Given the description of an element on the screen output the (x, y) to click on. 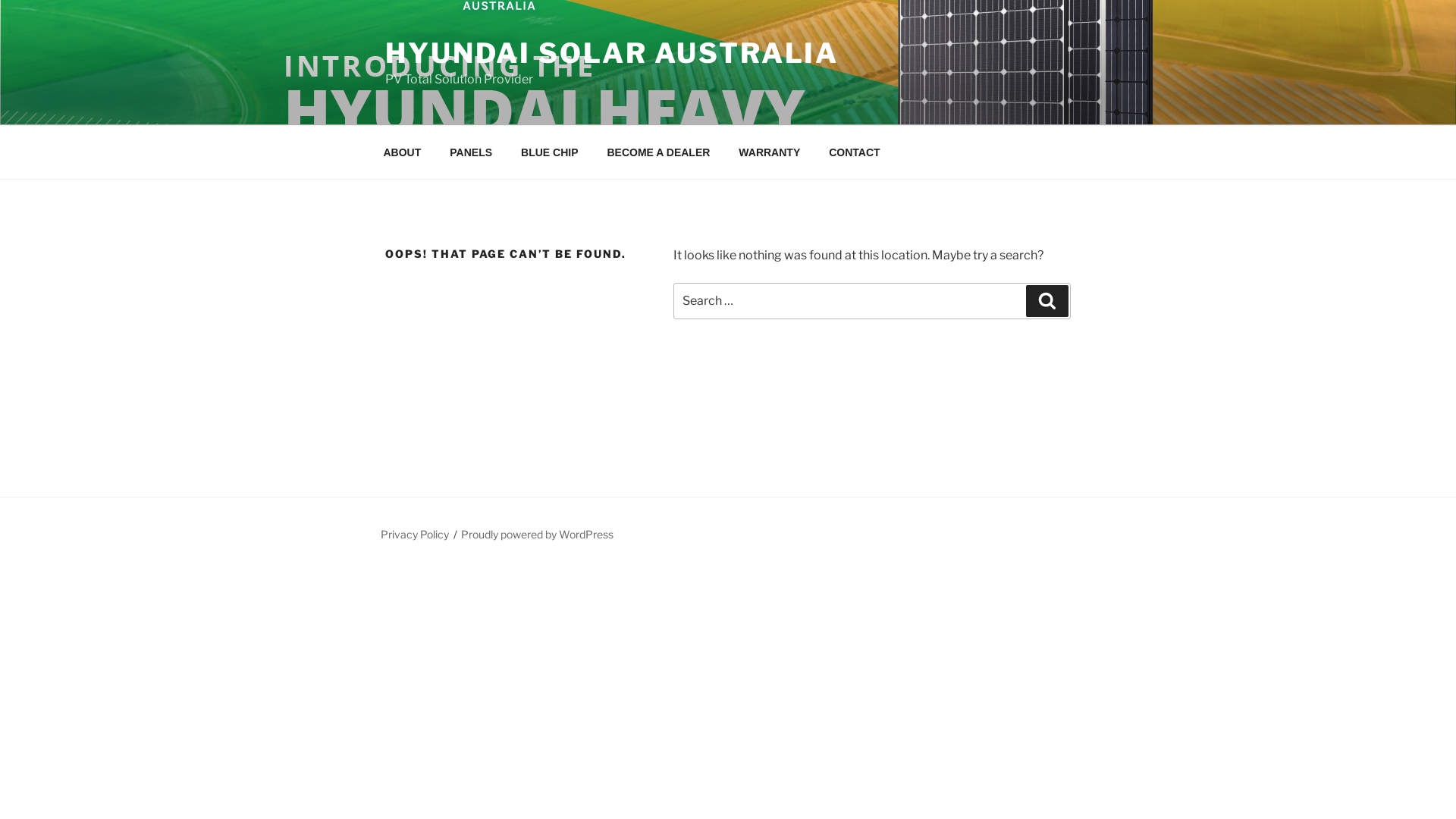
PANELS Element type: text (470, 151)
ABOUT Element type: text (402, 151)
BECOME A DEALER Element type: text (658, 151)
Search Element type: text (1047, 300)
CONTACT Element type: text (854, 151)
WARRANTY Element type: text (769, 151)
Proudly powered by WordPress Element type: text (537, 533)
BLUE CHIP Element type: text (549, 151)
HYUNDAI SOLAR AUSTRALIA Element type: text (611, 52)
Privacy Policy Element type: text (414, 533)
